Given the description of an element on the screen output the (x, y) to click on. 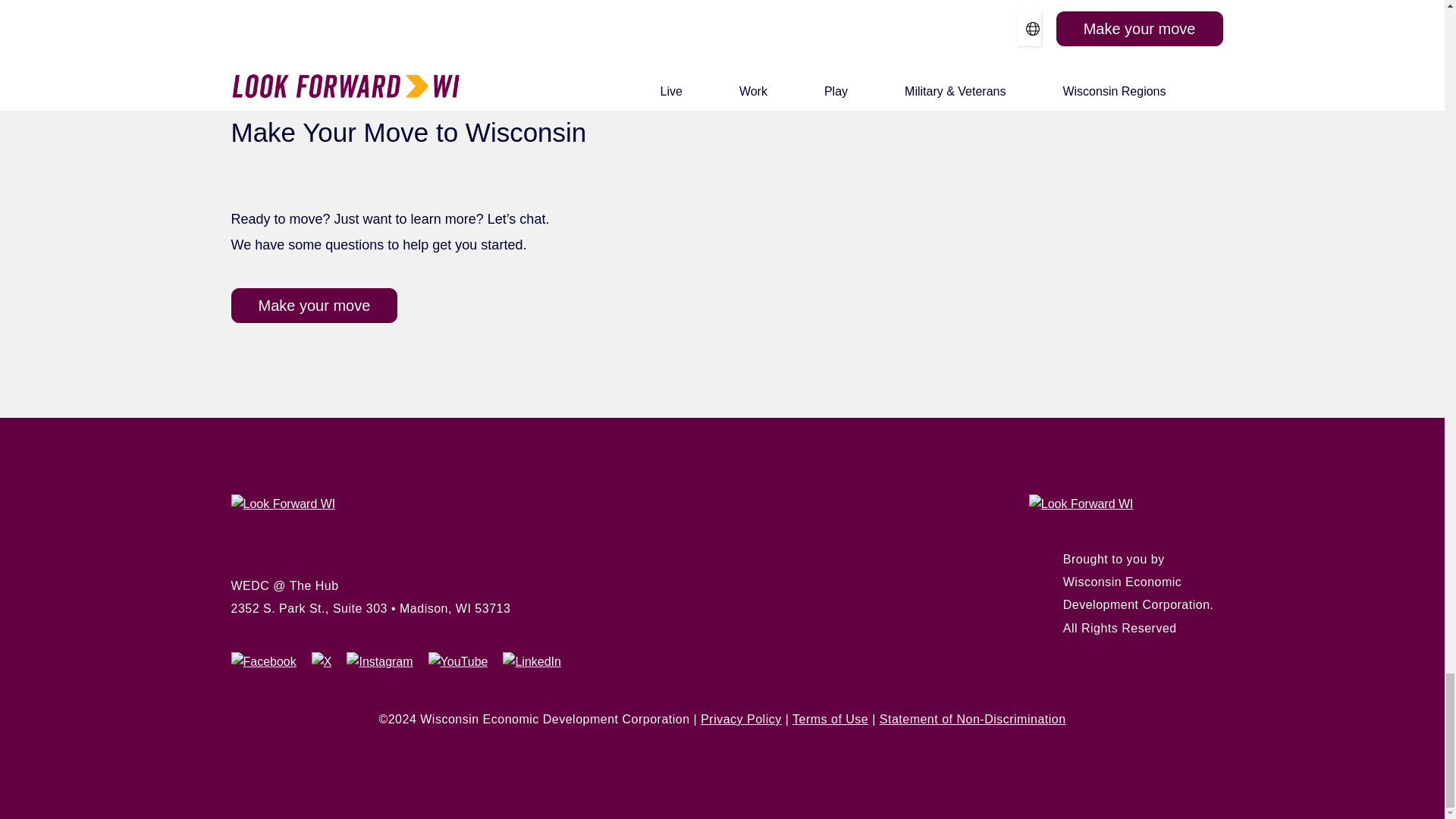
Privacy Policy (740, 718)
Make your move (313, 305)
Statement of Non-Discrimination (972, 718)
Terms of Use (829, 718)
